Given the description of an element on the screen output the (x, y) to click on. 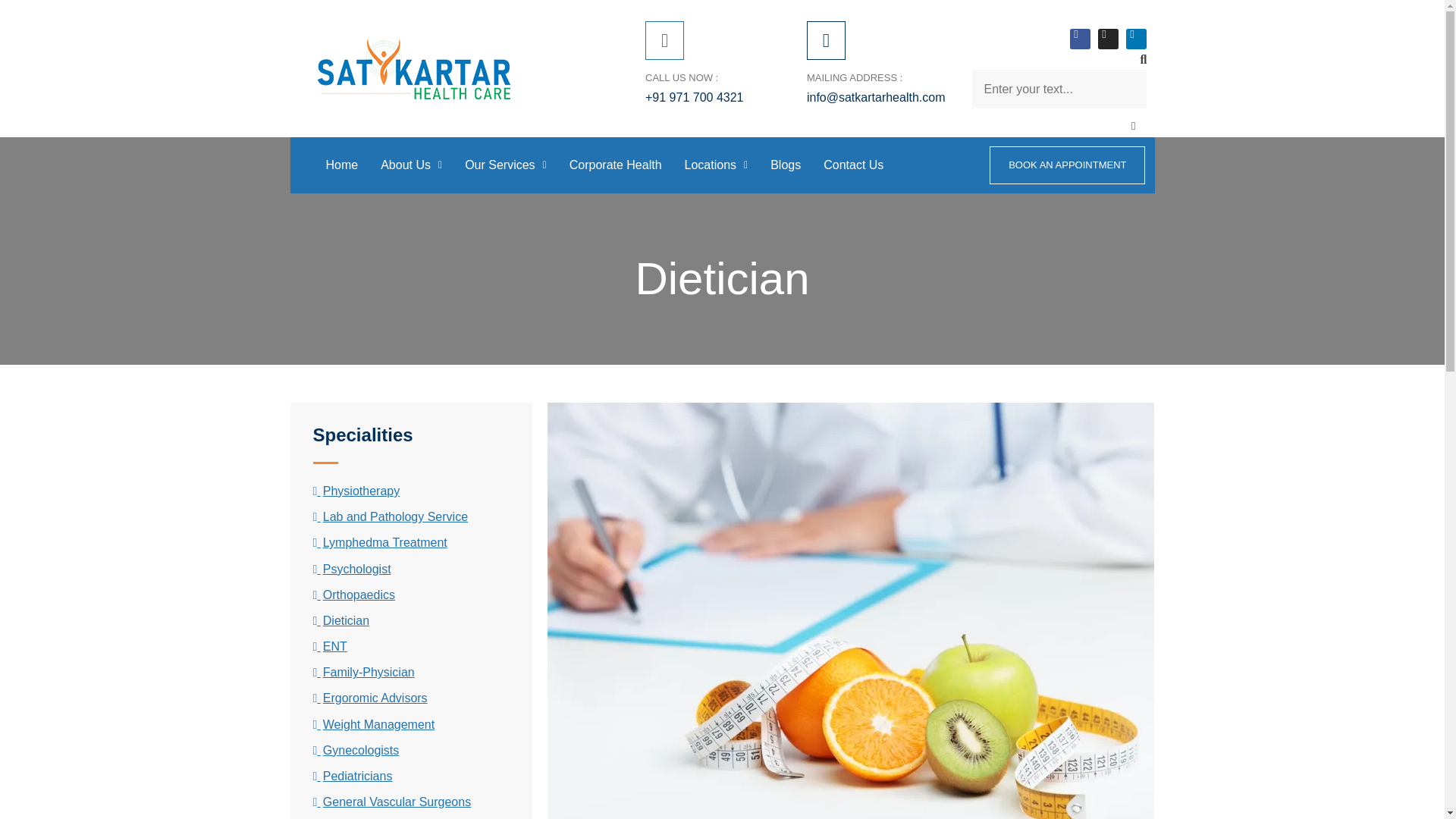
ENT (329, 645)
Corporate Health (614, 165)
BOOK AN APPOINTMENT (1067, 165)
Physiotherapy (355, 490)
Psychologist (351, 568)
Dietician (341, 620)
Lab and Pathology Service (390, 516)
Contact Us (853, 165)
Home (341, 165)
About Us (410, 165)
Orthopaedics (353, 594)
Blogs (785, 165)
Our Services (504, 165)
Locations (716, 165)
Lymphedma Treatment (379, 542)
